Given the description of an element on the screen output the (x, y) to click on. 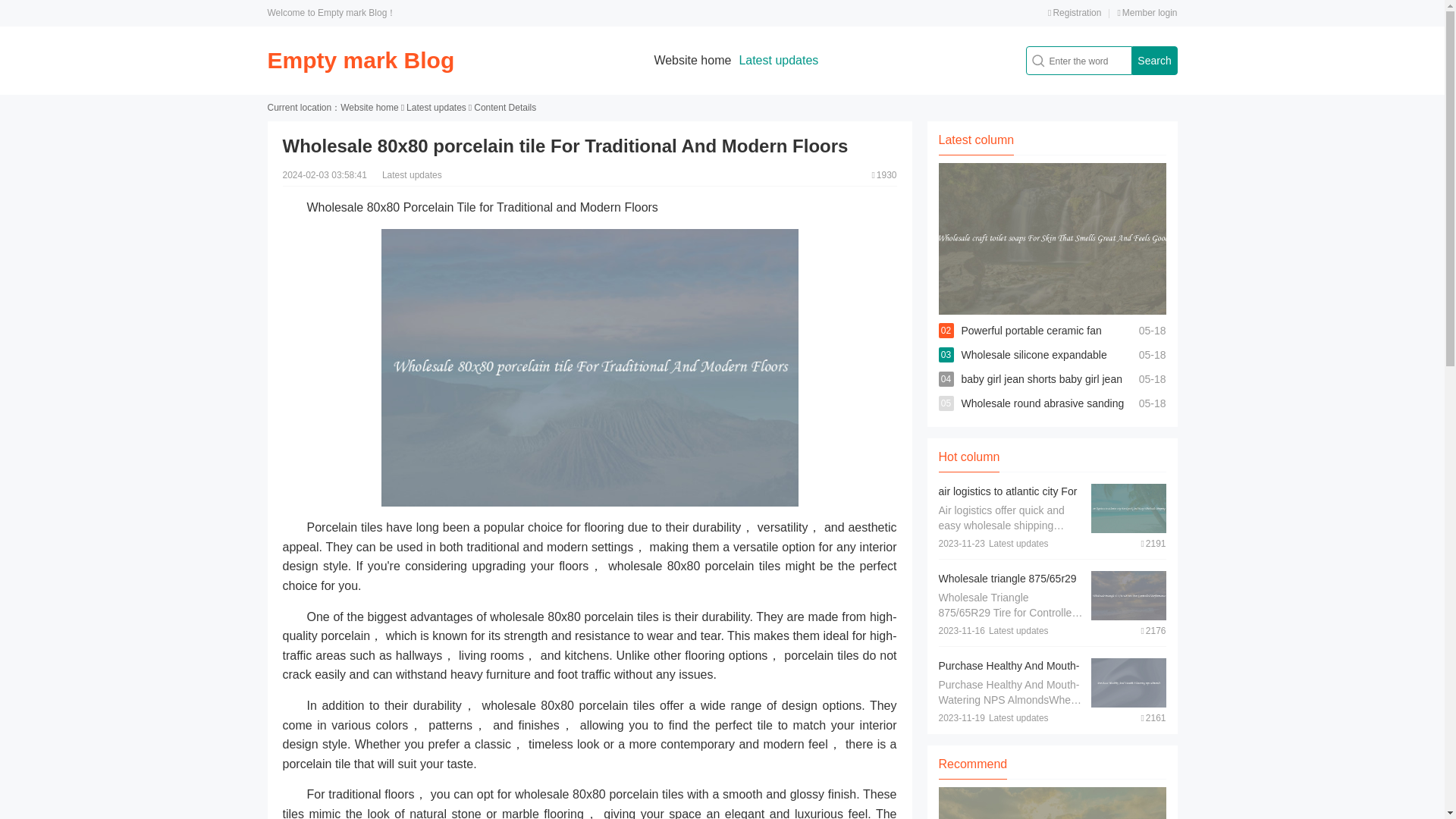
Registration (1074, 12)
Latest updates (778, 60)
Search (1153, 60)
Member login (1146, 12)
Purchase Healthy And Mouth-Watering nps almonds (1009, 673)
Website home (691, 60)
Empty mark Blog (360, 59)
Powerful portable ceramic fan heater For Fast Heating (1031, 342)
Latest updates (435, 107)
Website home (368, 107)
